Given the description of an element on the screen output the (x, y) to click on. 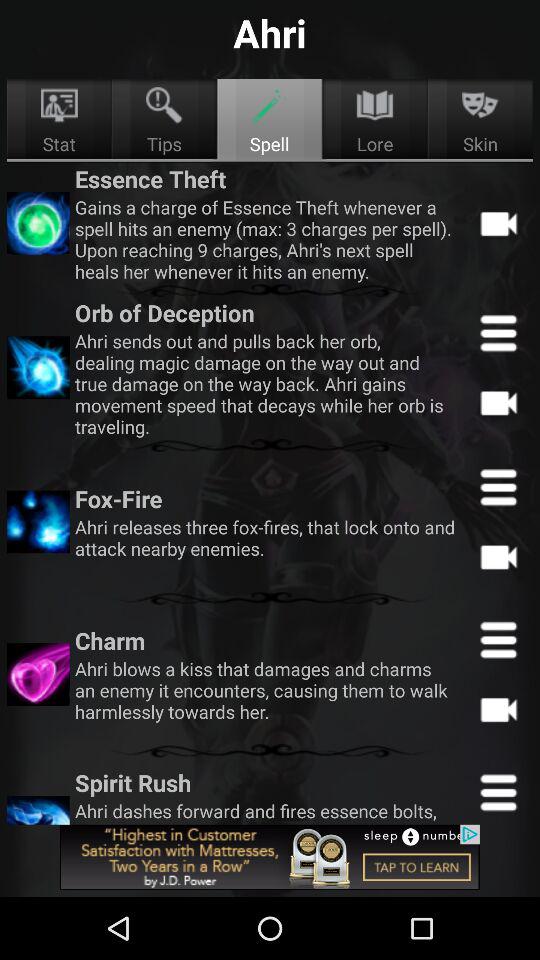
visualizar anncio (270, 857)
